Given the description of an element on the screen output the (x, y) to click on. 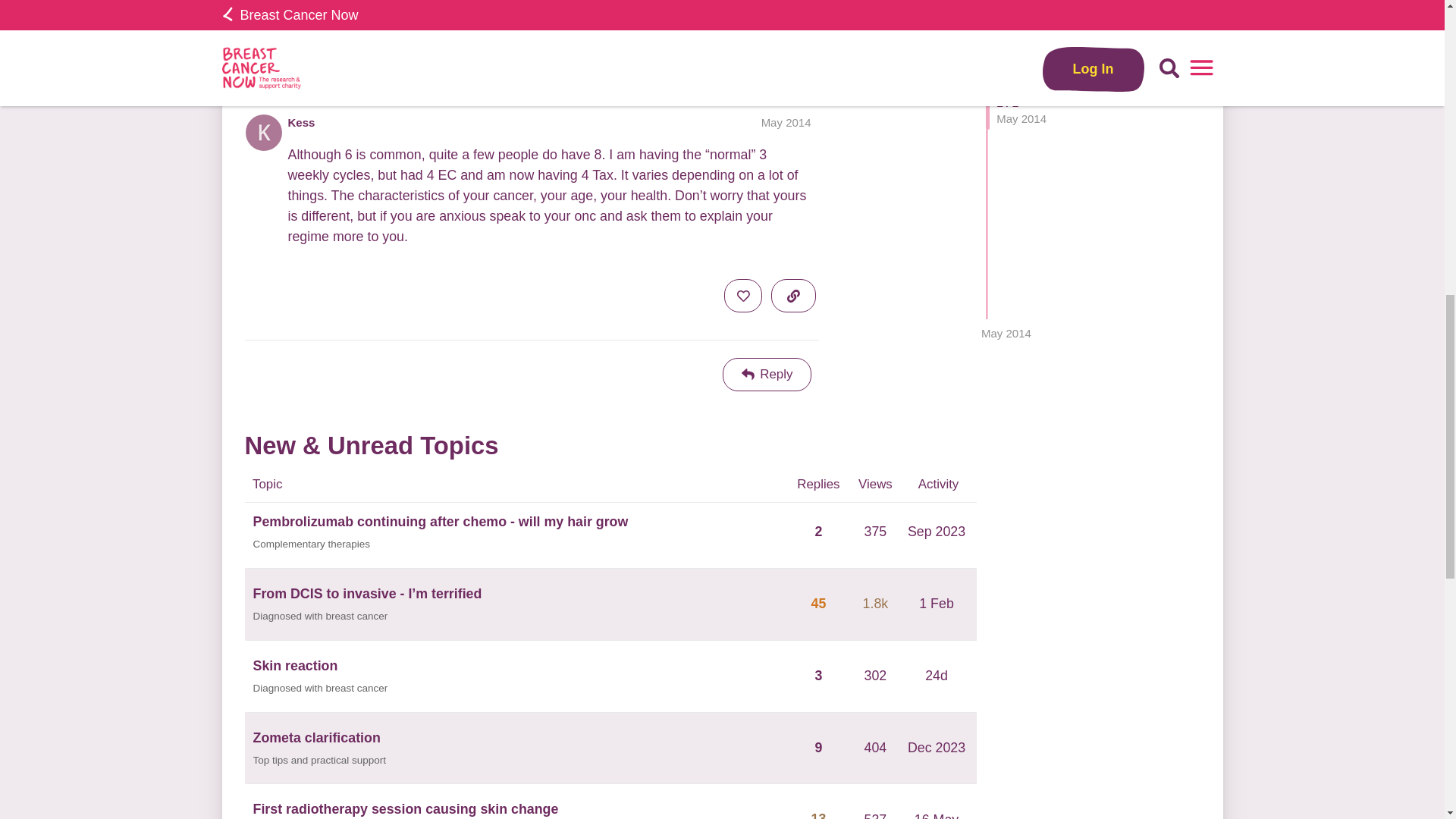
Post date (785, 122)
Reply (767, 374)
25 May 2014 14:27 (429, 60)
24 May 2014 18:39 (341, 60)
copy a link to this post to clipboard (793, 2)
Diagnosed with breast cancer (320, 616)
25 May 2014 14:27 (1005, 65)
expand topic details (793, 53)
May 2014 (785, 122)
like this post (742, 2)
Kess (301, 122)
Kess (390, 61)
Diagnosed with breast cancer (320, 688)
Skin reaction (295, 666)
Sep 2023 (936, 531)
